Given the description of an element on the screen output the (x, y) to click on. 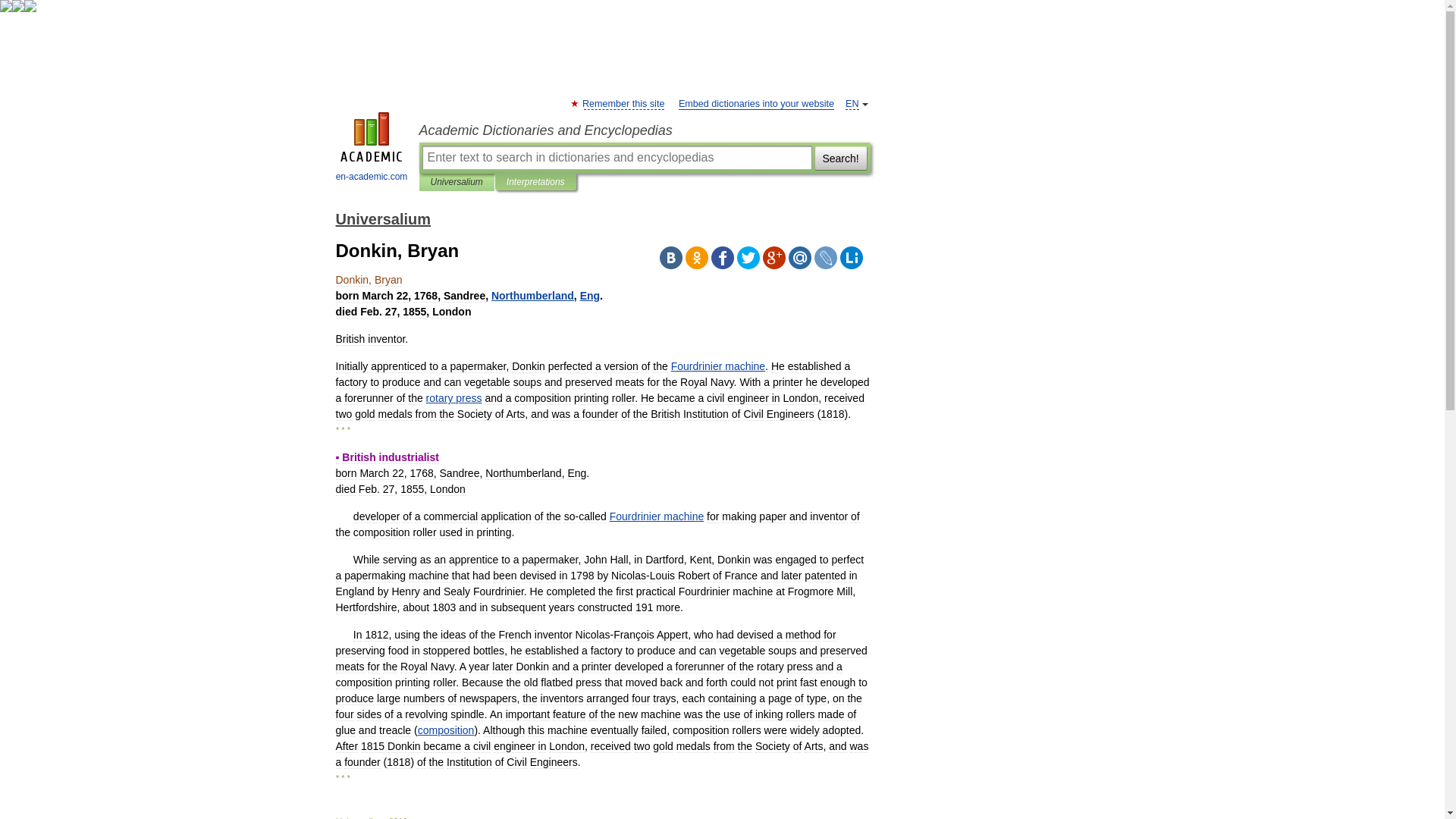
Interpretations (535, 181)
Eng (589, 295)
Remember this site (623, 103)
Embed dictionaries into your website (756, 103)
Fourdrinier machine (657, 516)
en-academic.com (371, 148)
Northumberland (532, 295)
EN (852, 103)
composition (445, 729)
Universalium (382, 218)
